Given the description of an element on the screen output the (x, y) to click on. 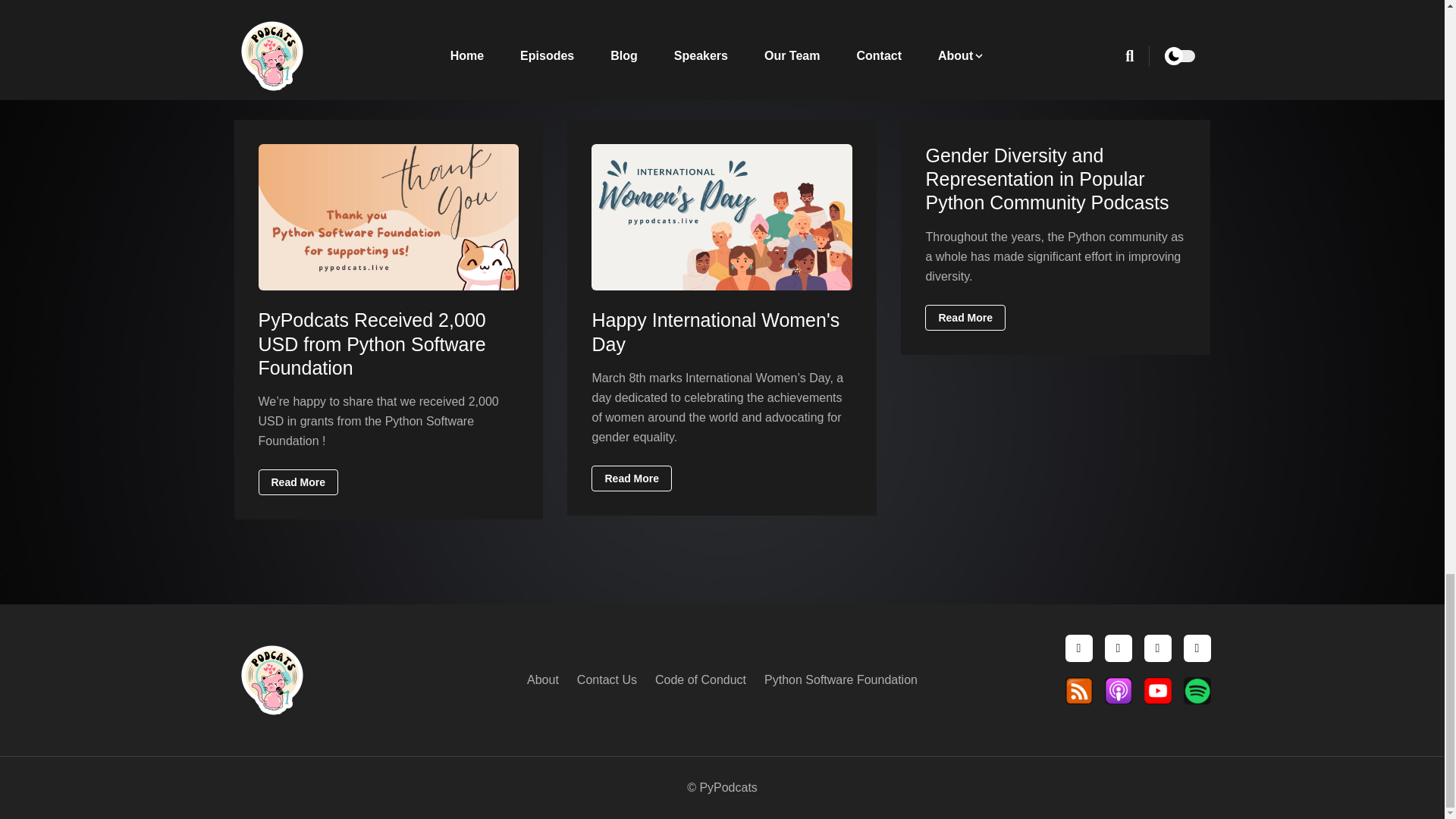
Listen on Apple Podcast (1117, 690)
Listen on Spotify (1195, 690)
Listen on YouTube Podcasts (1156, 690)
PyPodcats Received 2,000 USD from Python Software Foundation (370, 343)
Subscribe to our Podcast (1078, 690)
